Given the description of an element on the screen output the (x, y) to click on. 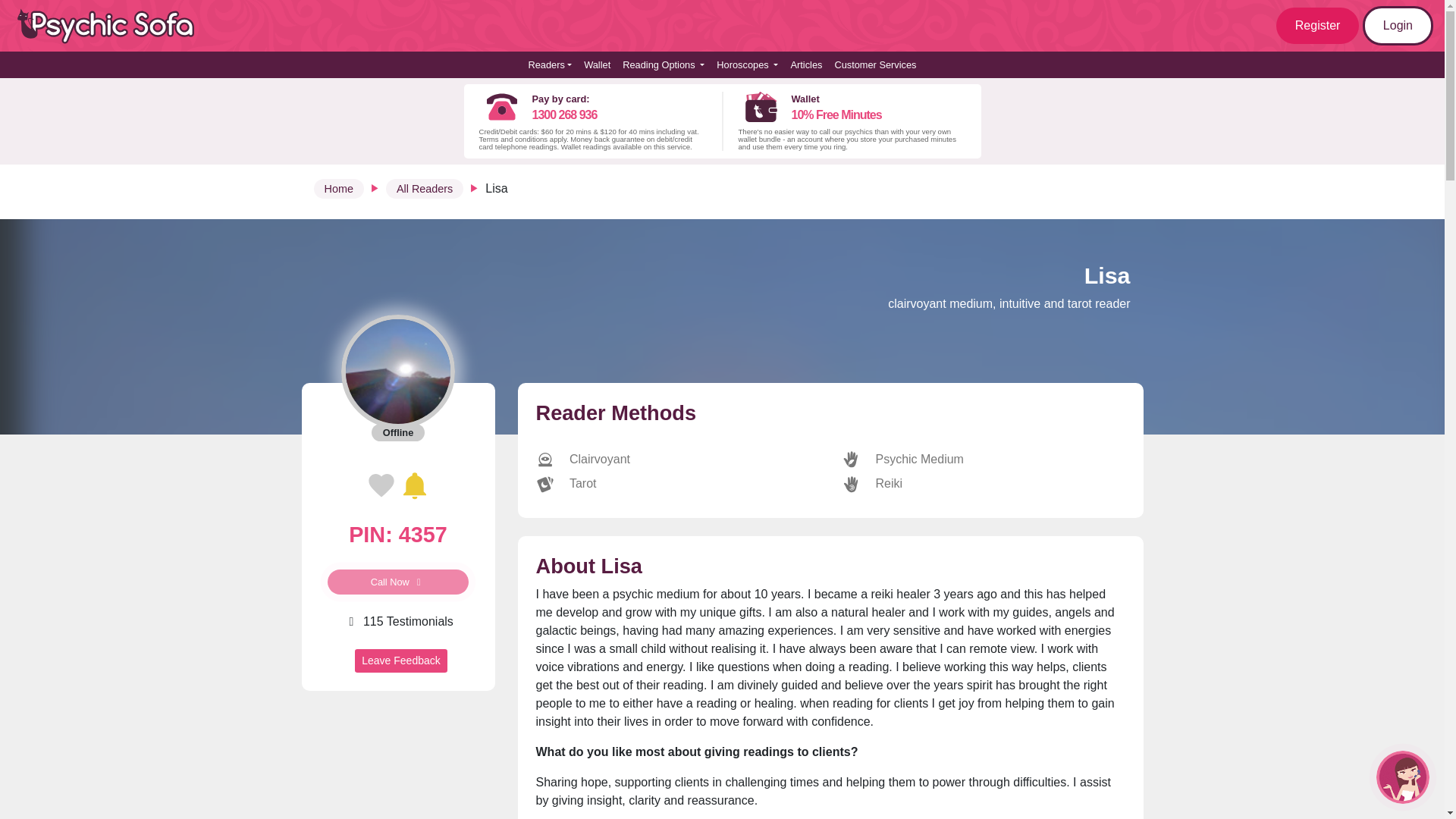
Wallet (596, 64)
Psychic Sofa Home Page Link (113, 25)
Readers (549, 64)
Login (1397, 25)
Horoscopes (747, 64)
Register (1317, 25)
Reading Options (662, 64)
